Given the description of an element on the screen output the (x, y) to click on. 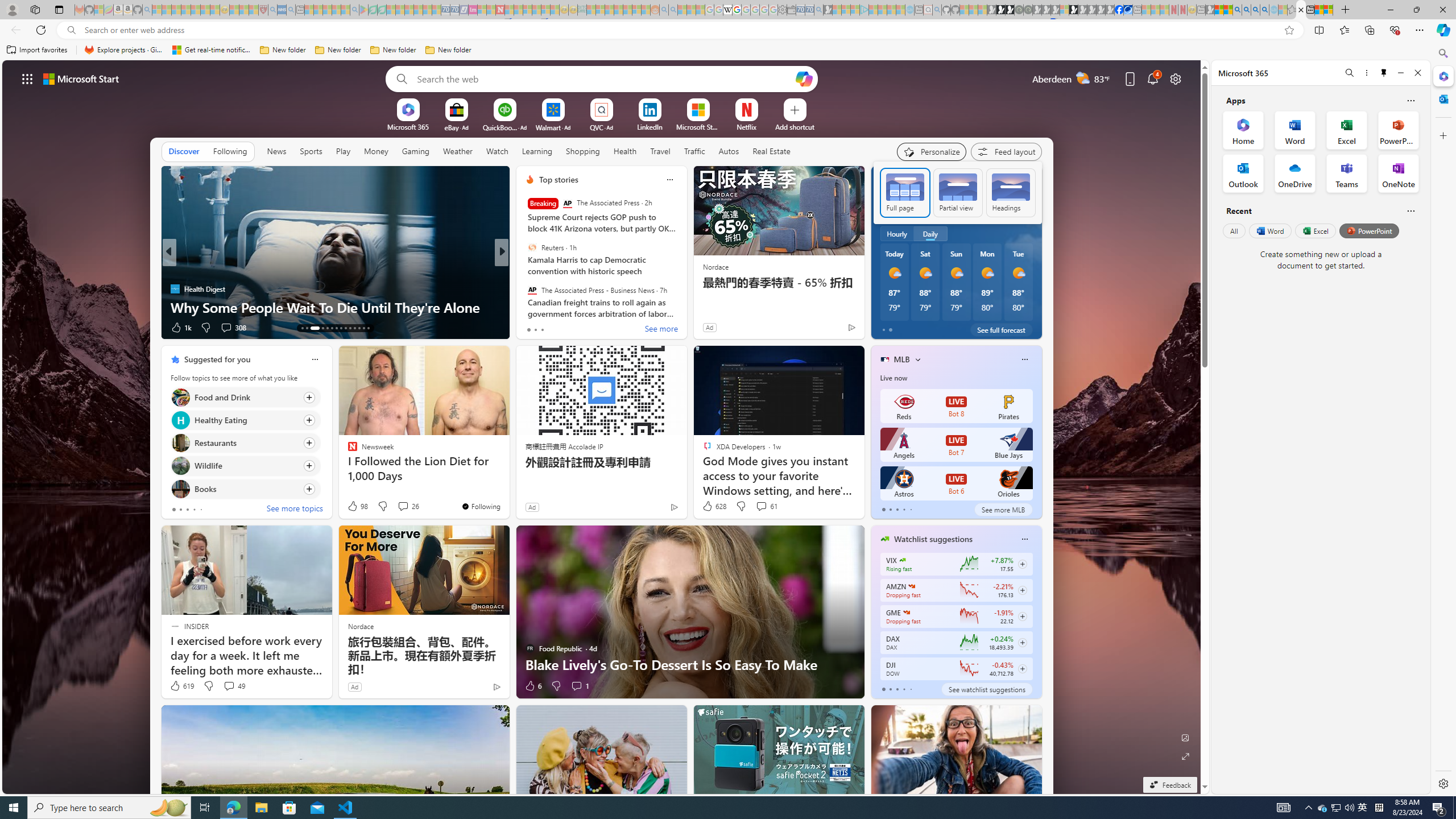
View comments 6 Comment (580, 327)
Money (376, 151)
Partly sunny (892, 208)
Settings - Sleeping (782, 9)
Full page (904, 192)
AutomationID: tab-17 (327, 328)
View comments 3 Comment (576, 327)
Microsoft start (81, 78)
Local - MSN - Sleeping (253, 9)
